Given the description of an element on the screen output the (x, y) to click on. 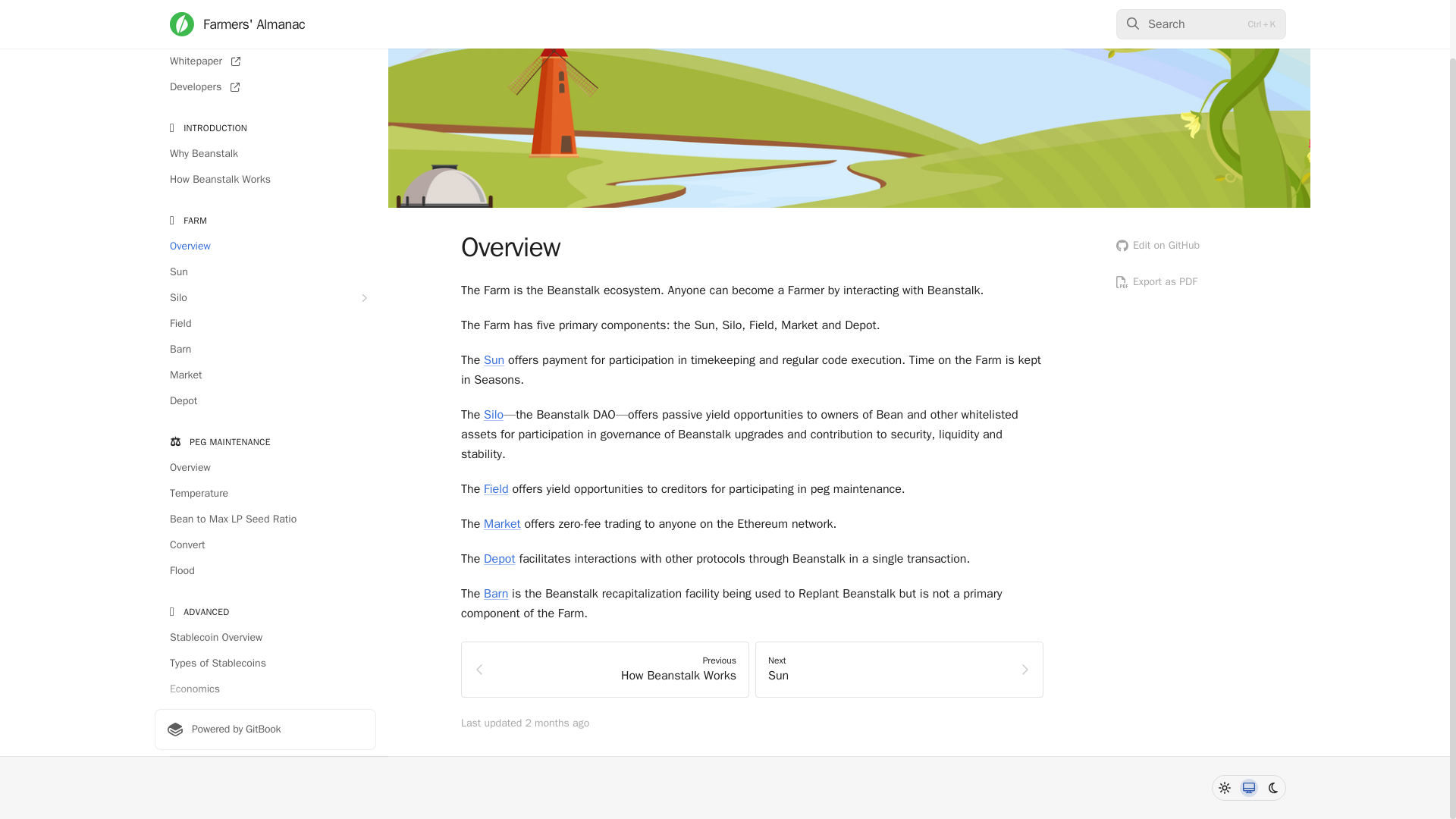
Types of Stablecoins (264, 663)
Silo (264, 297)
Farmers' Almanac (264, 11)
Field (264, 323)
How Beanstalk Works (264, 179)
Overview (264, 467)
Whitepaper (264, 61)
Developers (264, 87)
Stablecoin Overview (264, 637)
Temperature (264, 493)
